Given the description of an element on the screen output the (x, y) to click on. 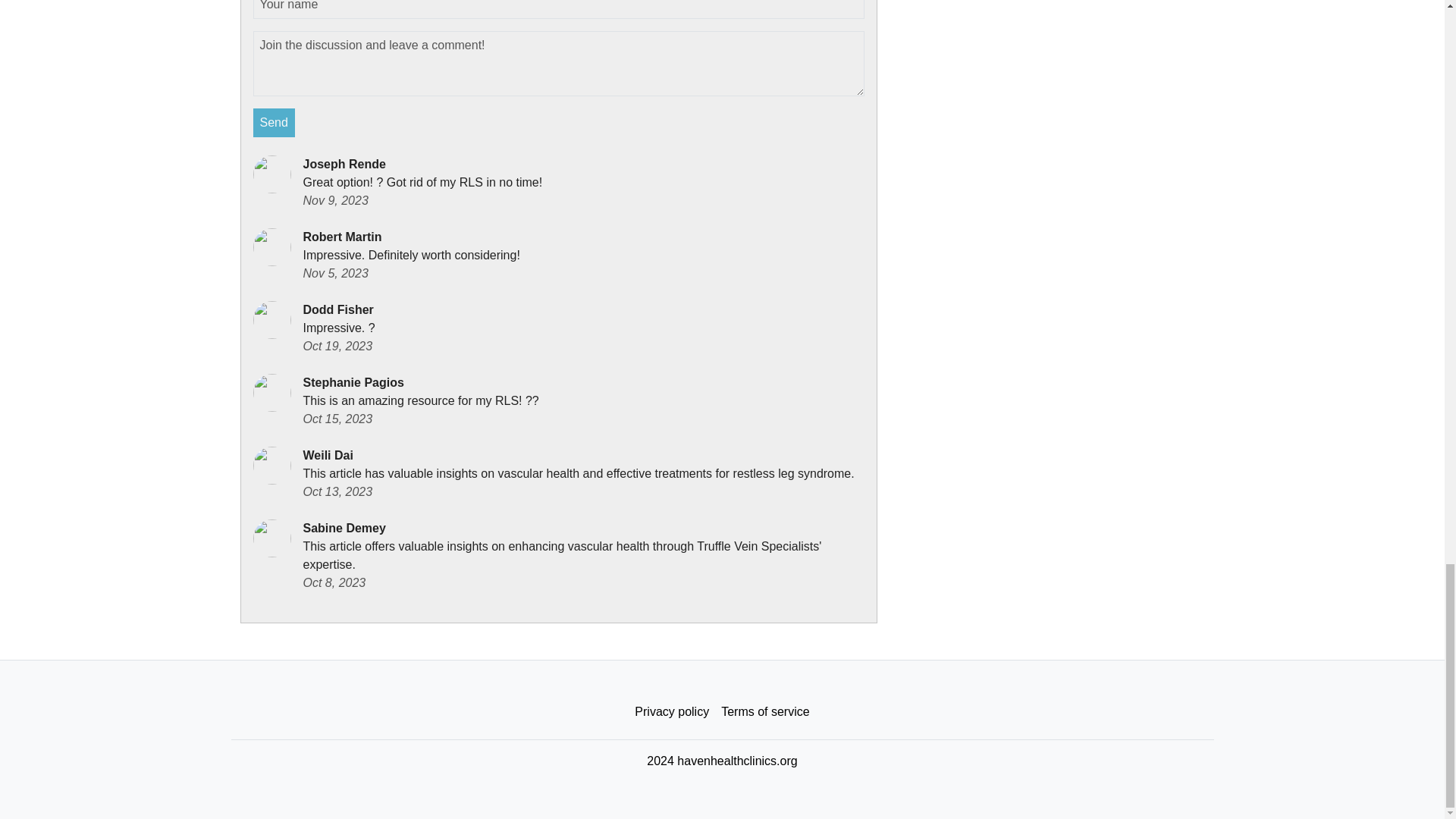
Send (274, 122)
Send (274, 122)
Terms of service (764, 711)
Privacy policy (671, 711)
